Given the description of an element on the screen output the (x, y) to click on. 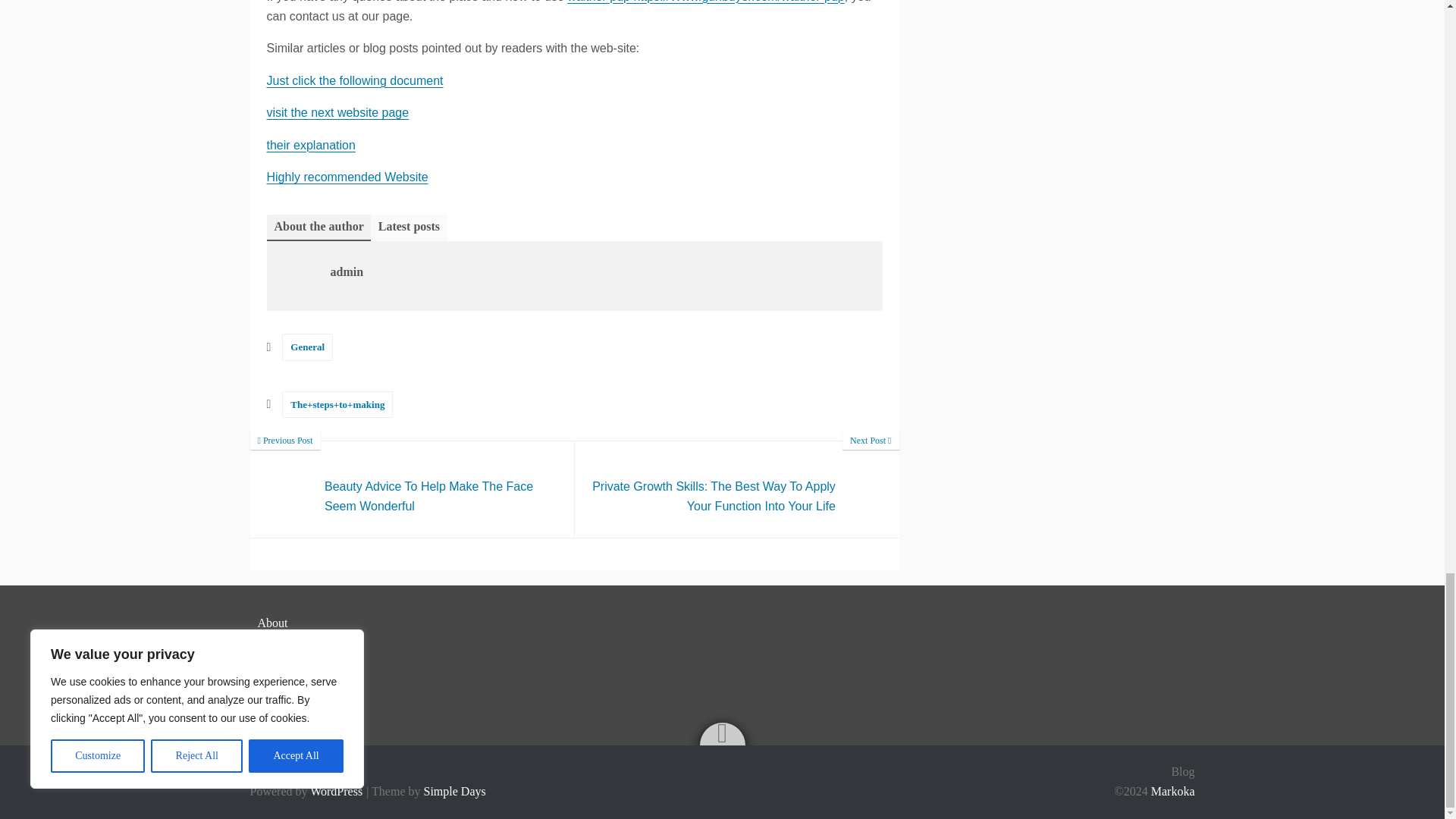
their explanation (310, 144)
General (307, 346)
Just click the following document (355, 80)
visit the next website page (337, 112)
Beauty Advice To Help Make The Face Seem Wonderful (412, 489)
Highly recommended Website (347, 176)
